Given the description of an element on the screen output the (x, y) to click on. 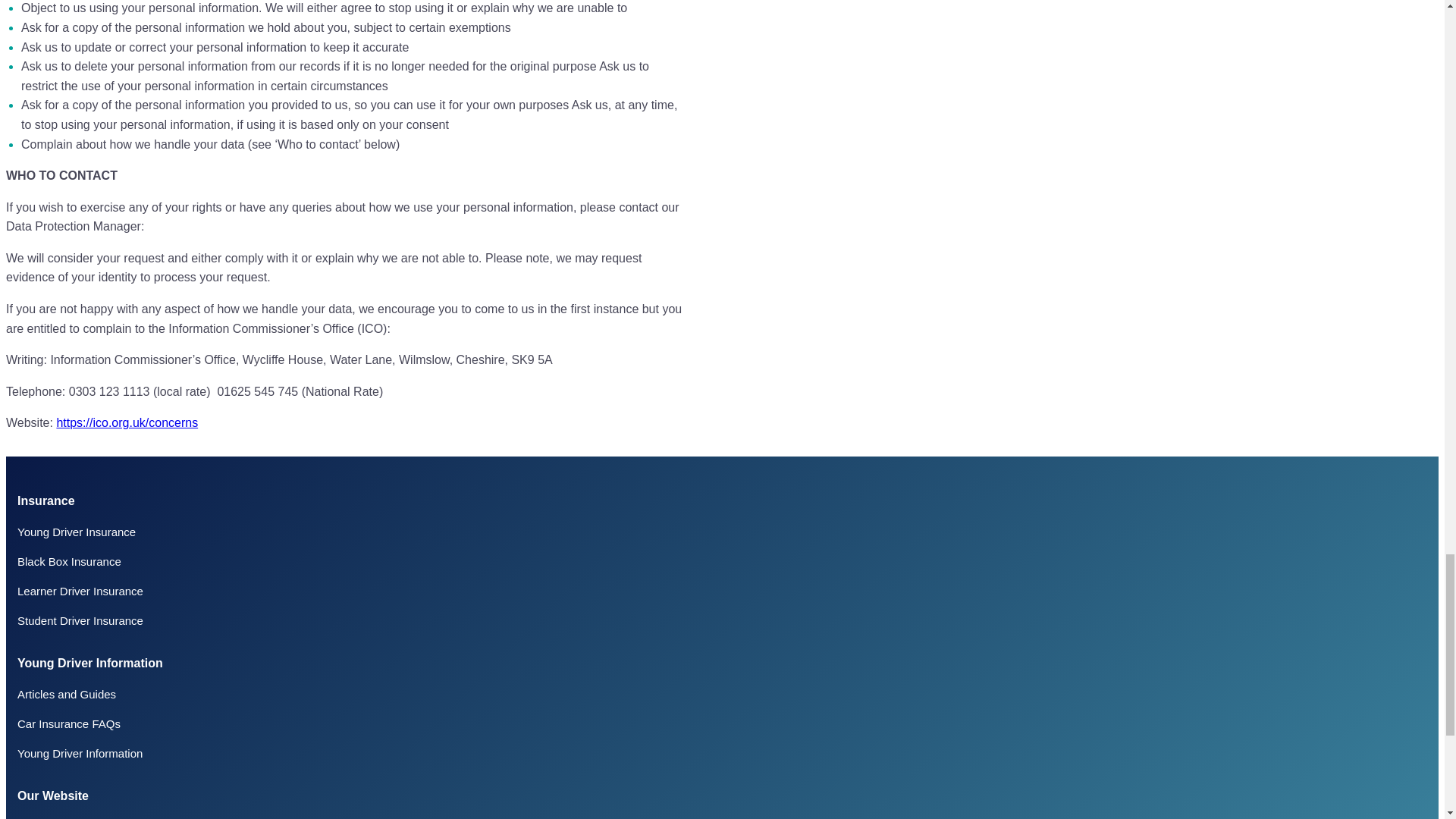
Young Driver Information (79, 753)
Black Box Insurance (68, 561)
Young Driver Insurance (76, 531)
Car Insurance FAQs (68, 723)
Articles and Guides (66, 694)
Student Driver Insurance (79, 620)
Learner Driver Insurance (79, 590)
